Given the description of an element on the screen output the (x, y) to click on. 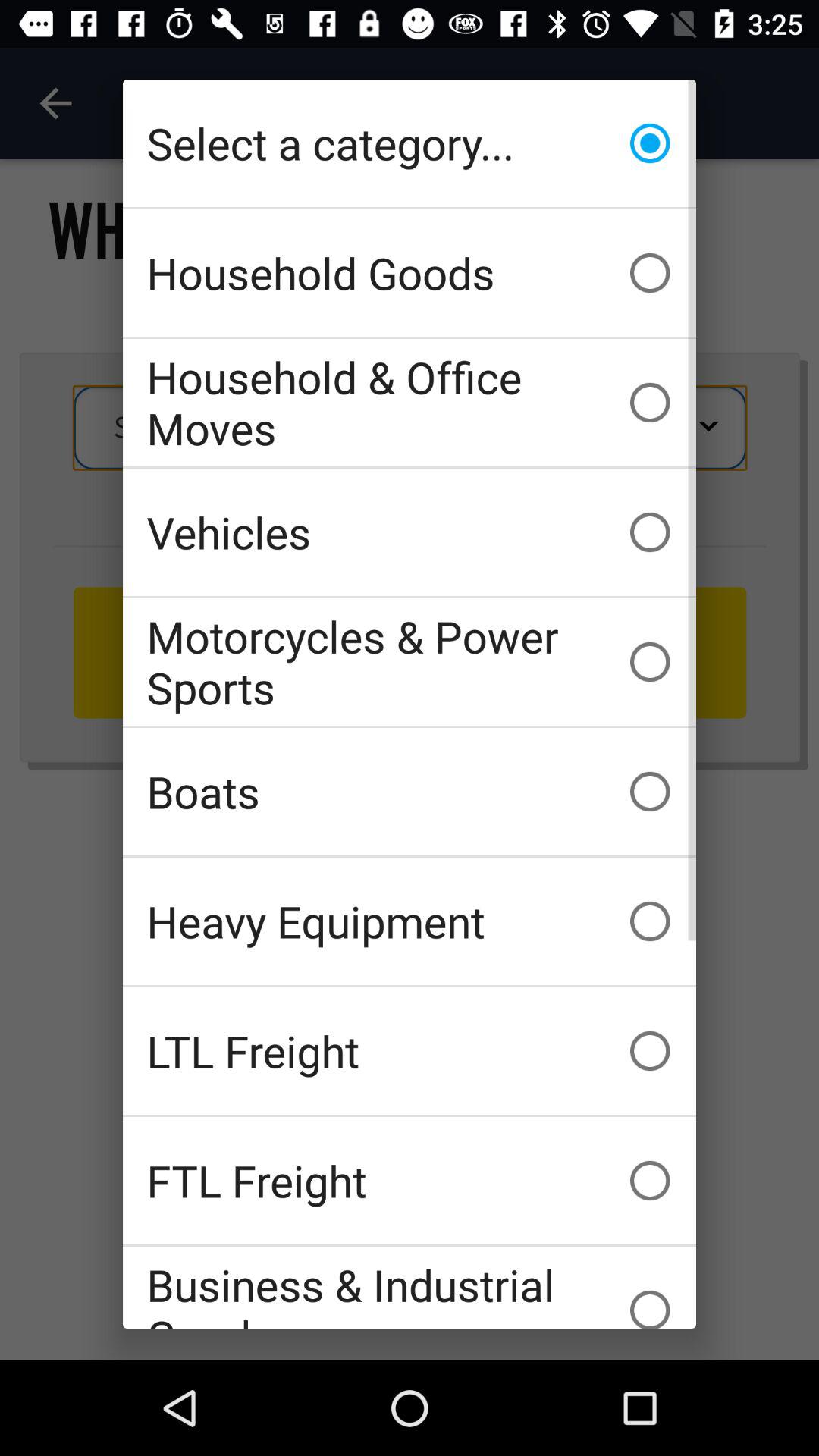
press the vehicles item (409, 532)
